Given the description of an element on the screen output the (x, y) to click on. 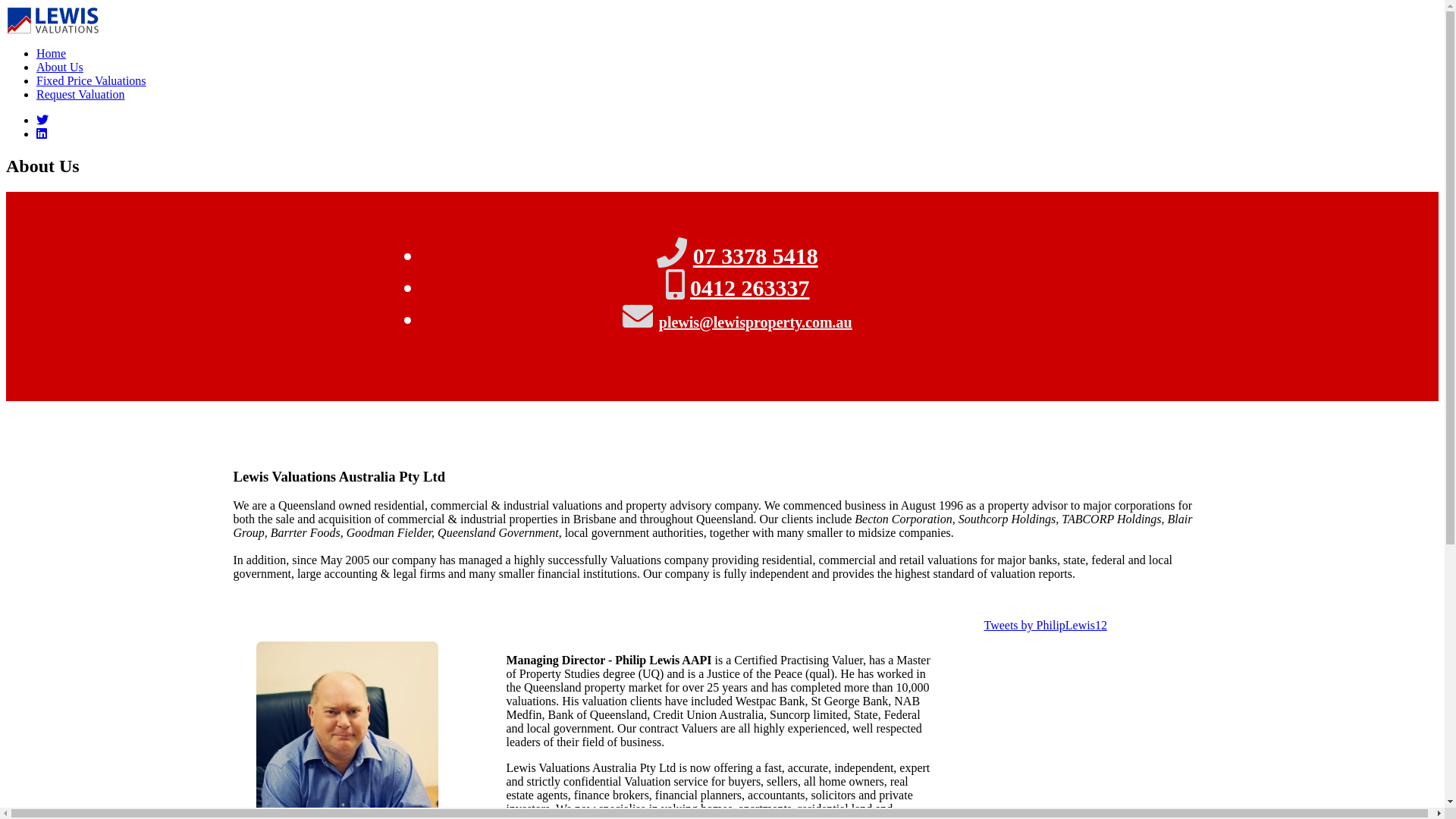
Fixed Price Valuations Element type: text (91, 80)
Home Element type: text (50, 53)
Tweets by PhilipLewis12 Element type: text (1045, 624)
About Us Element type: text (59, 66)
0412 263337 Element type: text (749, 287)
plewis@lewisproperty.com.au Element type: text (755, 321)
Request Valuation Element type: text (80, 93)
07 3378 5418 Element type: text (755, 255)
